Given the description of an element on the screen output the (x, y) to click on. 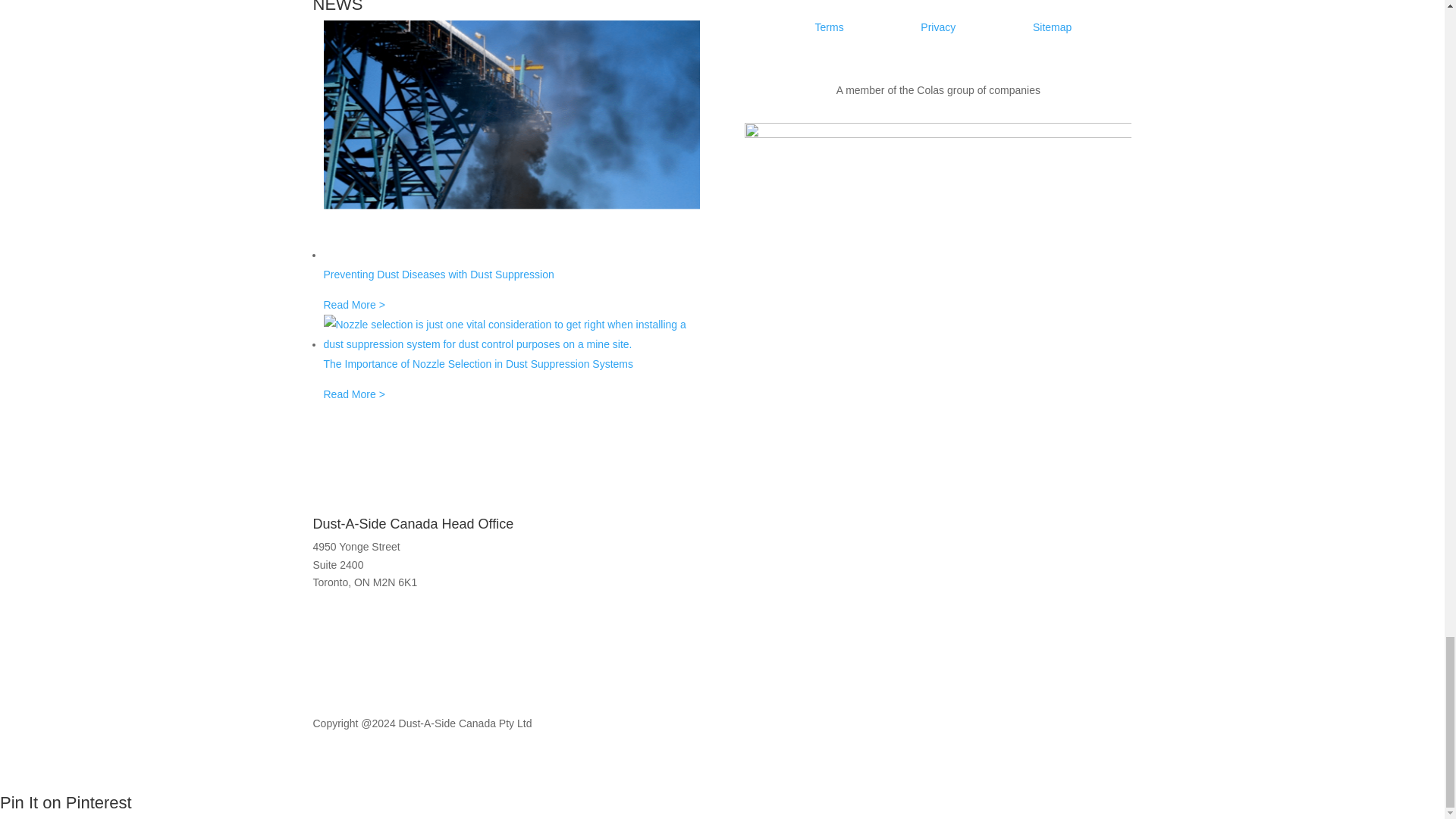
Privacy (937, 27)
Preventing Dust Diseases with Dust Suppression (510, 281)
Privacy Statement (937, 27)
COLAS-logo (937, 186)
Sitemap (1051, 27)
Website Terms (1051, 27)
Terms (829, 27)
Website Terms (829, 27)
